Given the description of an element on the screen output the (x, y) to click on. 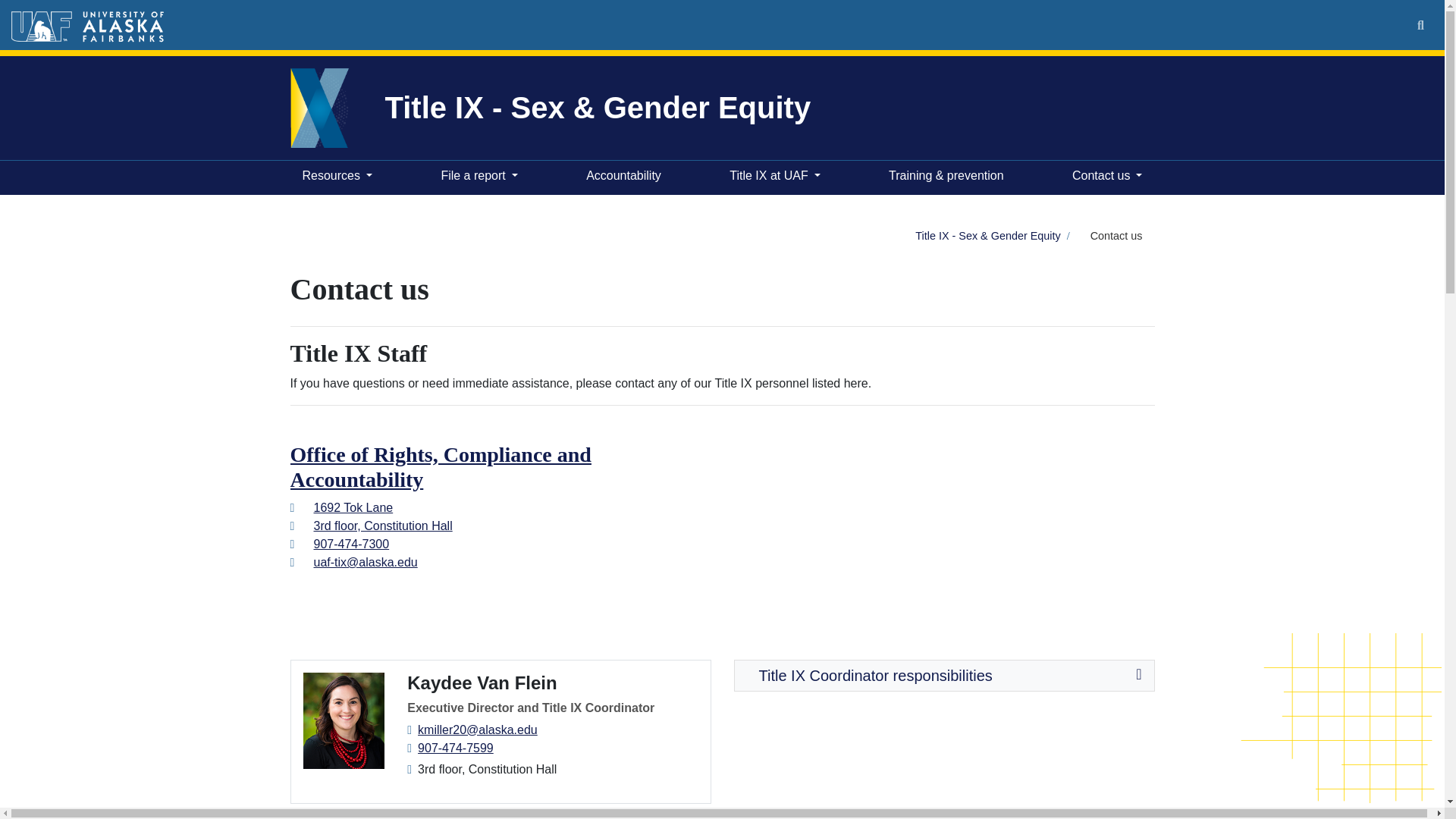
Resources (336, 177)
Accountability (622, 177)
1692 Tok Lane (353, 507)
Title IX at UAF (774, 177)
Office of Rights, Compliance and Accountability (440, 467)
File a report (477, 177)
Diversity and Equal Opportunity Department location map (943, 517)
Contact us (1106, 177)
